Given the description of an element on the screen output the (x, y) to click on. 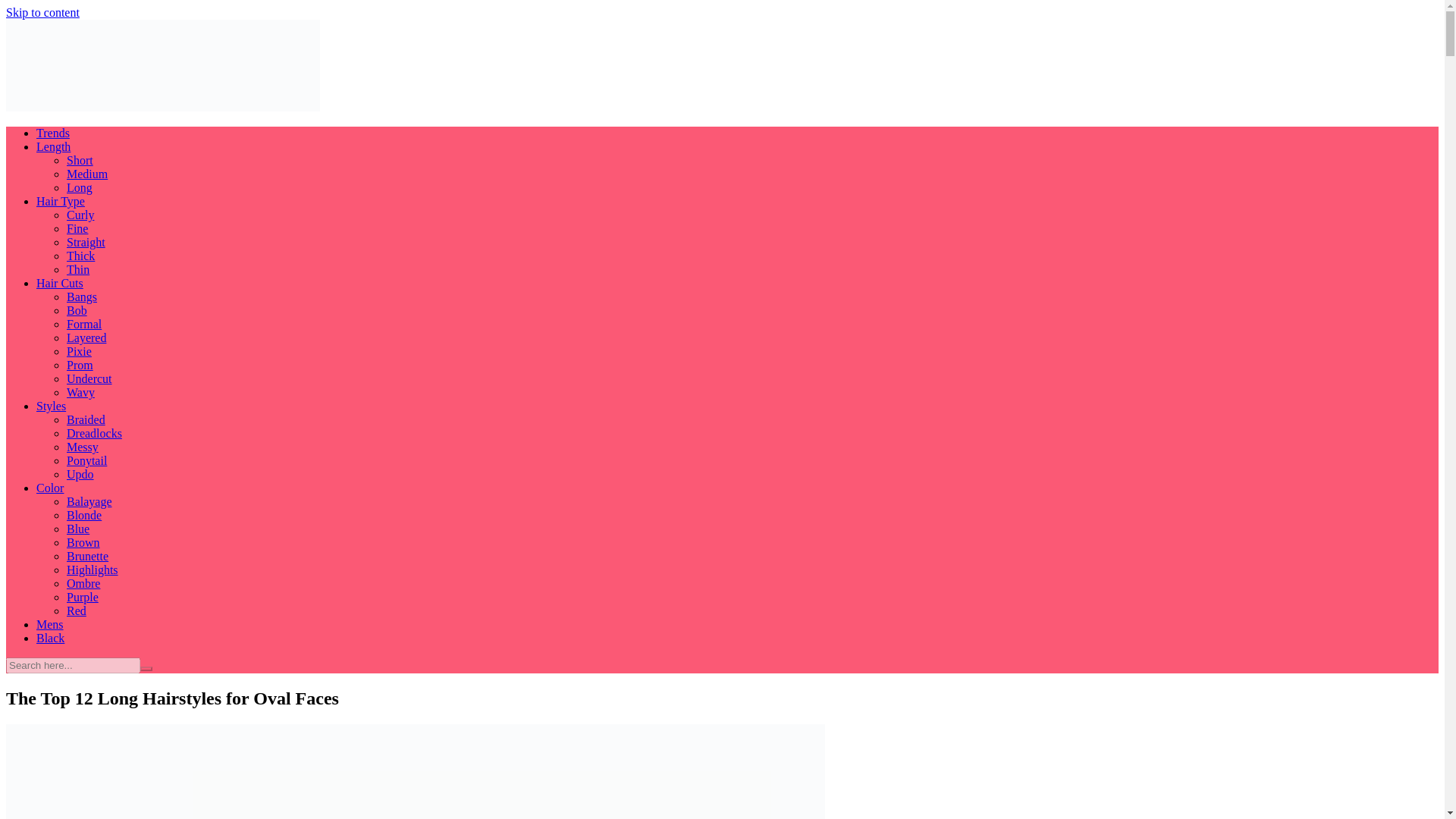
Short (79, 160)
Braided (85, 419)
Layered (86, 337)
Color (50, 487)
Straight (85, 241)
Thin (77, 269)
Updo (80, 473)
Balayage (89, 501)
Undercut (89, 378)
Hair Cuts (59, 282)
Wavy (80, 391)
Prom (79, 364)
Blue (77, 528)
Styles (50, 405)
Hair Type (60, 201)
